Given the description of an element on the screen output the (x, y) to click on. 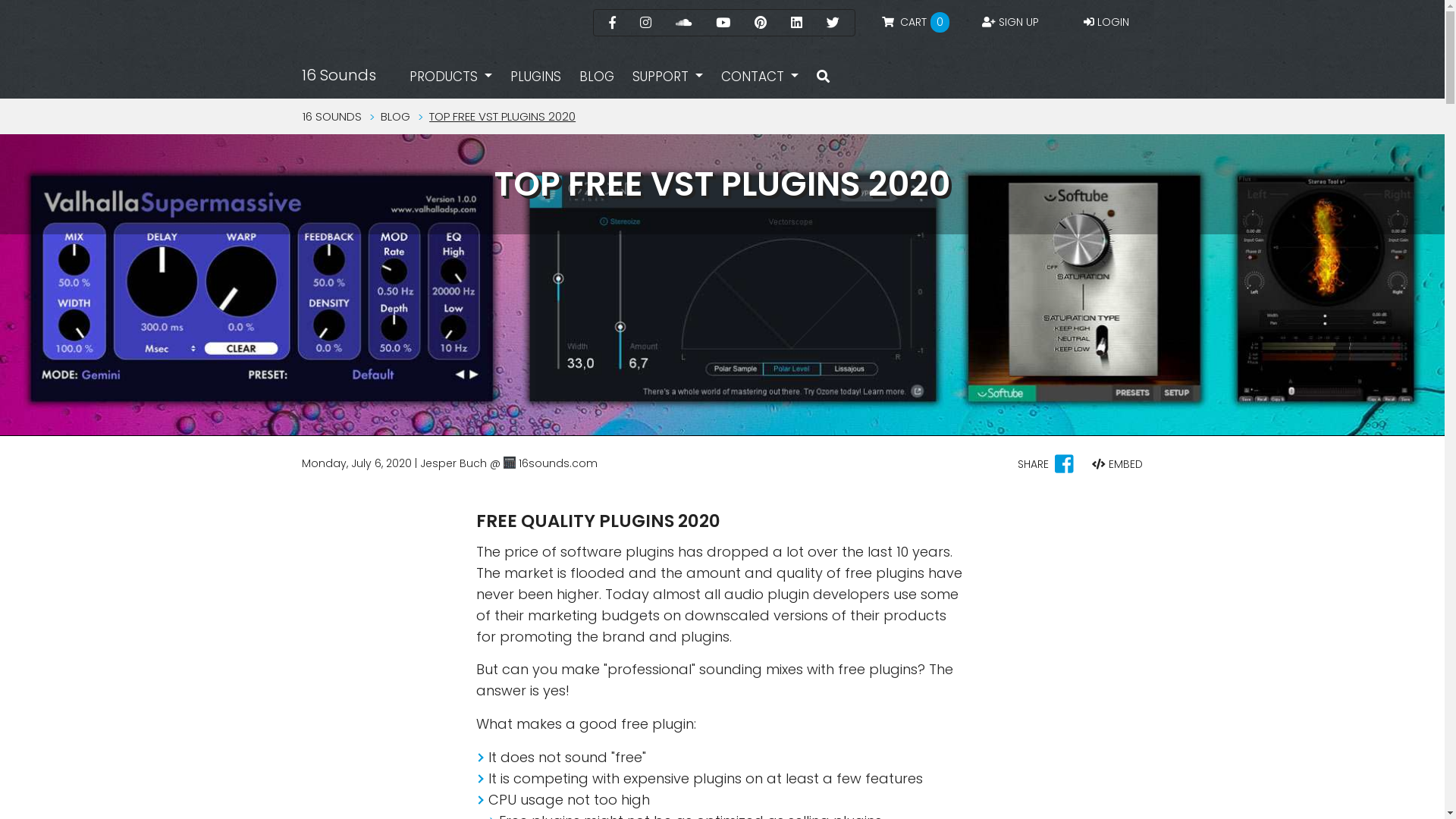
PLUGINS Element type: text (535, 76)
SUPPORT Element type: text (667, 76)
TOP FREE VST PLUGINS 2020 Element type: text (502, 116)
EMBED Element type: text (1117, 464)
  CART
0 Element type: text (913, 22)
YouTube Element type: hover (722, 22)
CONTACT Element type: text (759, 76)
16 Sounds Element type: text (338, 75)
16 SOUNDS Element type: text (330, 116)
BLOG Element type: text (596, 76)
SIGN UP Element type: text (1010, 21)
Pinterest Element type: hover (759, 22)
Facebook Element type: hover (611, 22)
LOGIN Element type: text (1106, 21)
Embed Element type: hover (1098, 463)
Instagram Element type: hover (645, 22)
PRODUCTS Element type: text (450, 76)
Linked In Element type: hover (795, 22)
Sound Cloud Element type: hover (682, 22)
Twitter Element type: hover (832, 22)
BLOG Element type: text (395, 116)
Share on facebook Element type: hover (1063, 467)
